Given the description of an element on the screen output the (x, y) to click on. 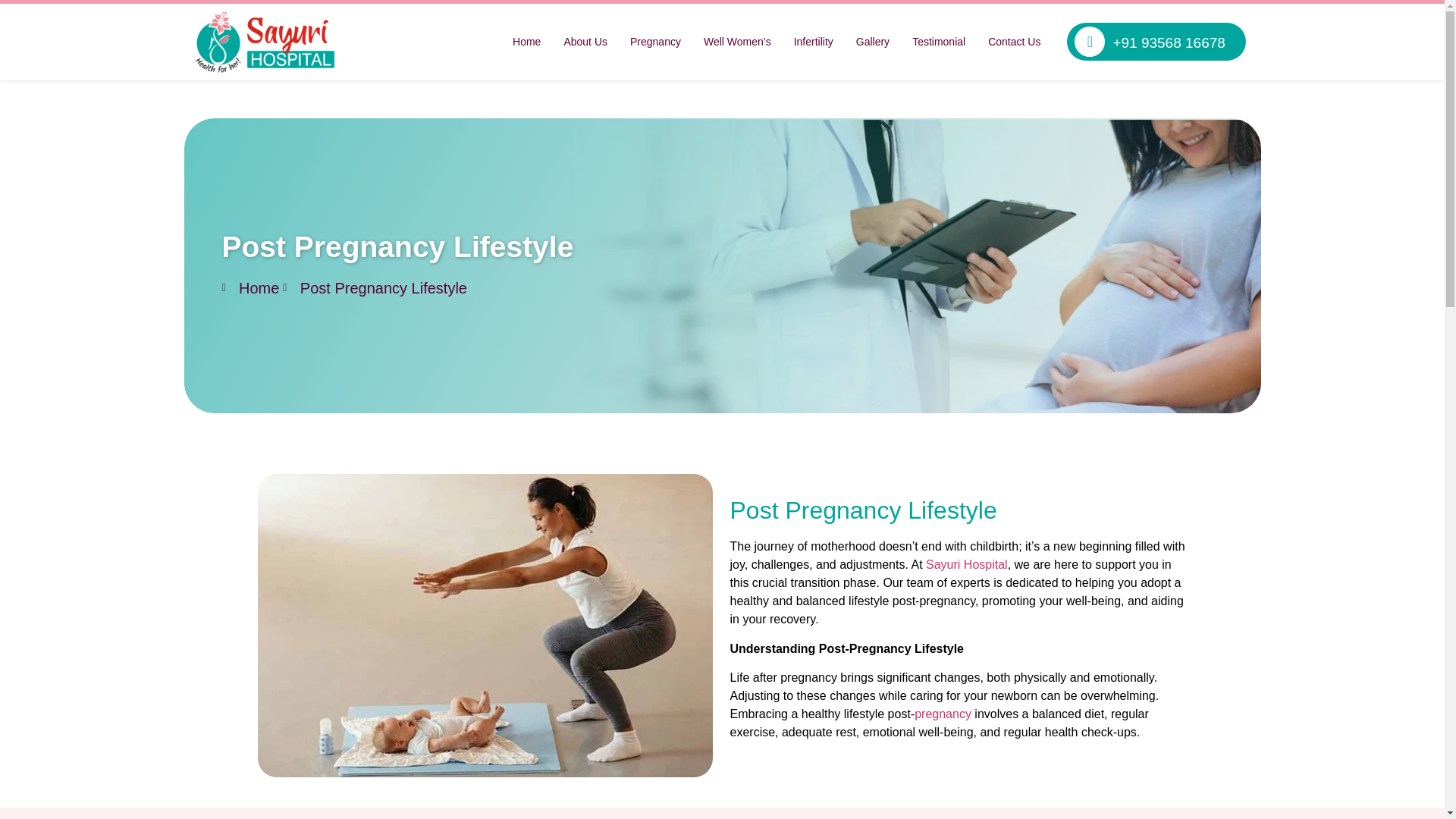
Pregnancy (655, 41)
Contact Us (1013, 41)
About Us (584, 41)
Testimonial (938, 41)
Home (525, 41)
Gallery (872, 41)
Infertility (813, 41)
